Given the description of an element on the screen output the (x, y) to click on. 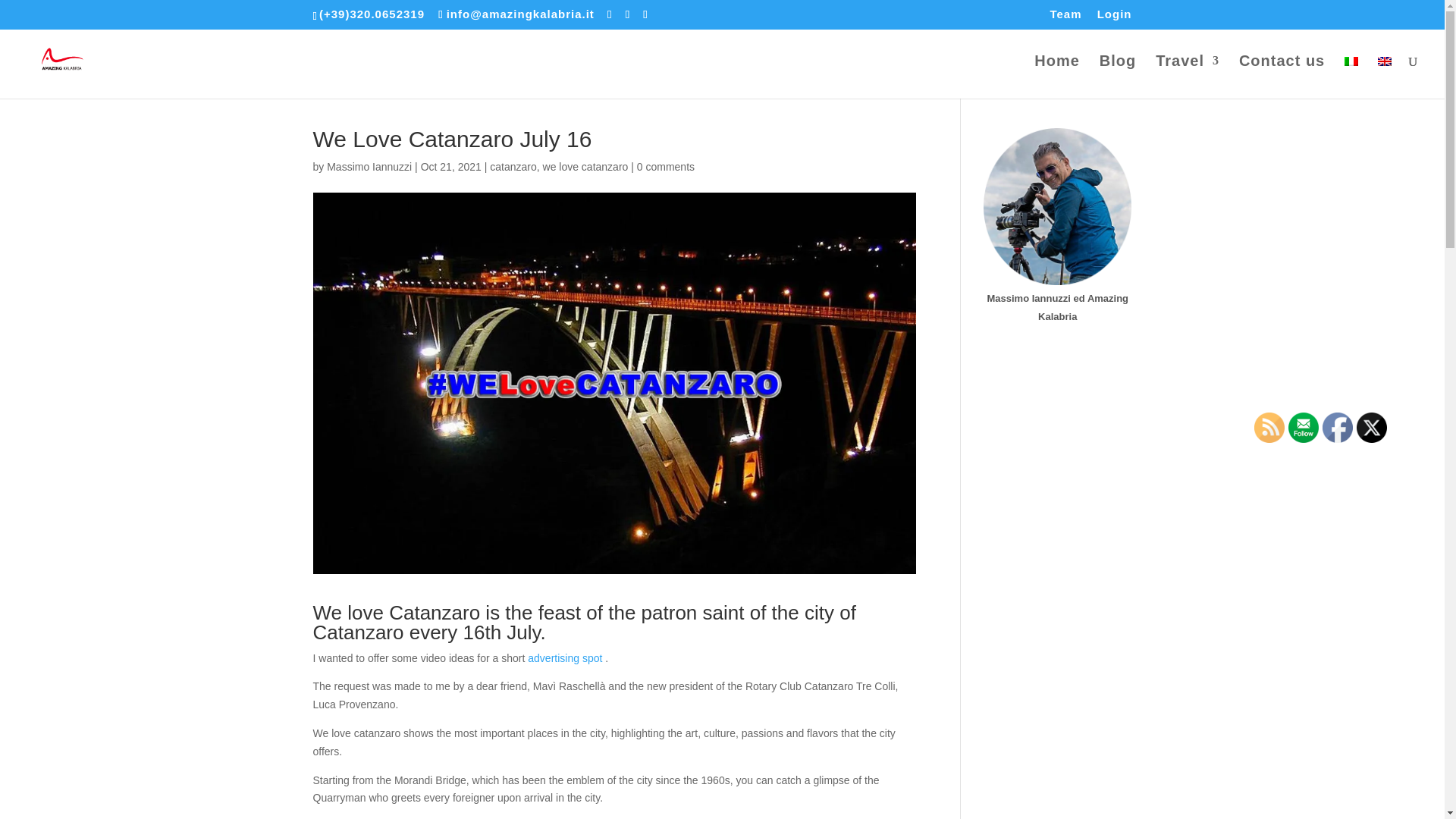
Massimo Iannuzzi (369, 166)
Travel (1188, 76)
Follow by Email (1303, 427)
we love catanzaro (585, 166)
catanzaro (512, 166)
Login (1114, 17)
Team (1065, 17)
RSS (1268, 427)
Facebook (1337, 427)
Home (1056, 76)
0 comments (665, 166)
advertising spot (566, 657)
Posts by Massimo Iannuzzi (369, 166)
Contact us (1281, 76)
